Given the description of an element on the screen output the (x, y) to click on. 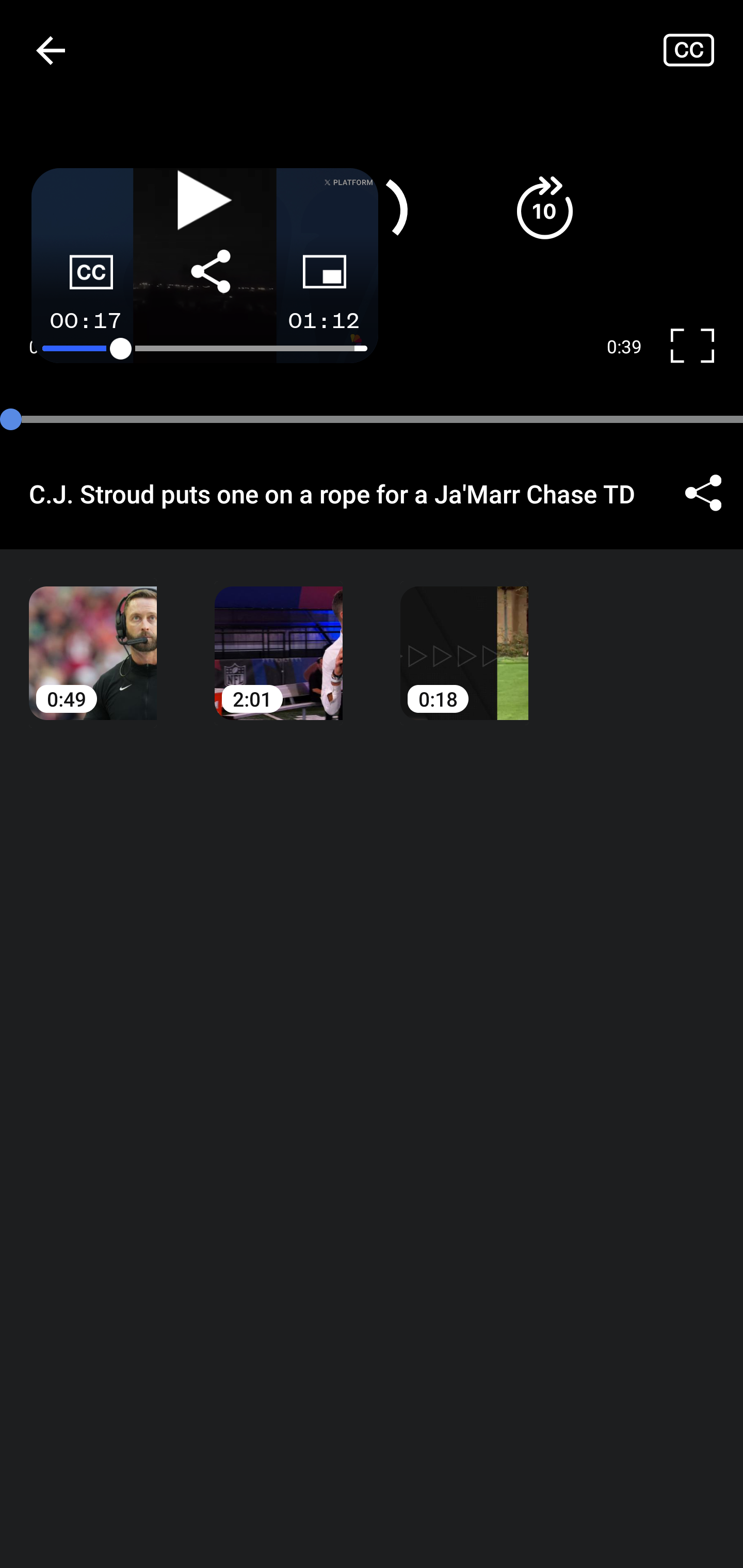
Navigate up (50, 50)
Closed captions  (703, 49)
Rewind 10 seconds  (197, 208)
Fast forward 10 seconds  (544, 208)
Fullscreen  (699, 346)
Share © (703, 493)
0:49 (92, 637)
2:01 (278, 637)
0:18 (464, 637)
